Given the description of an element on the screen output the (x, y) to click on. 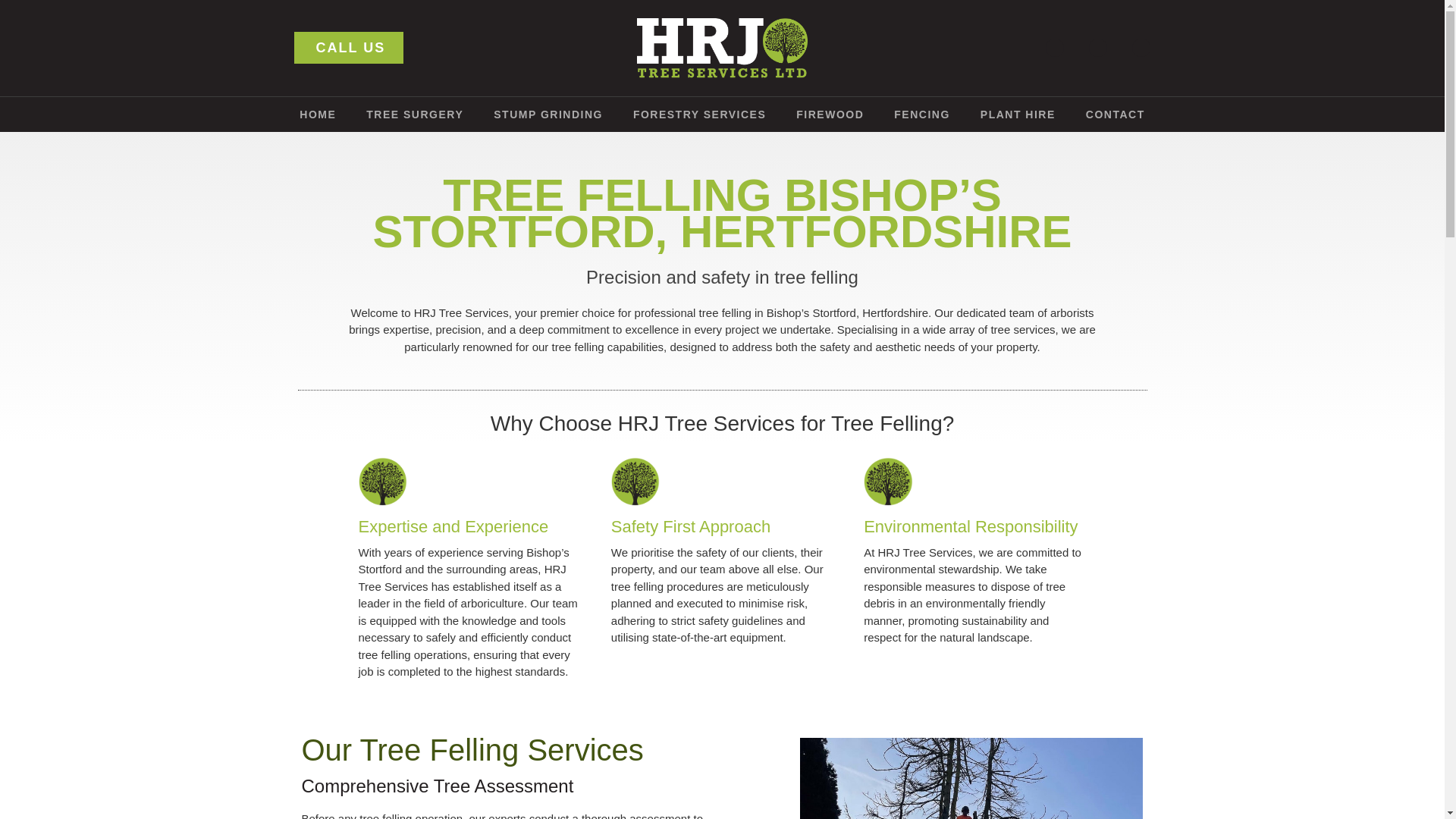
TREE SURGERY (414, 114)
CALL US (349, 47)
Call us at HRJ Tree Services (349, 47)
CONTACT (1115, 114)
FIREWOOD (829, 114)
FORESTRY SERVICES (698, 114)
PLANT HIRE (1017, 114)
Follow us on Instagram (1097, 47)
STUMP GRINDING (548, 114)
call us (454, 47)
HOME (316, 114)
Email HRJ Tree Services Limited (1141, 47)
FENCING (922, 114)
Follow us on Facebook (1054, 47)
